Given the description of an element on the screen output the (x, y) to click on. 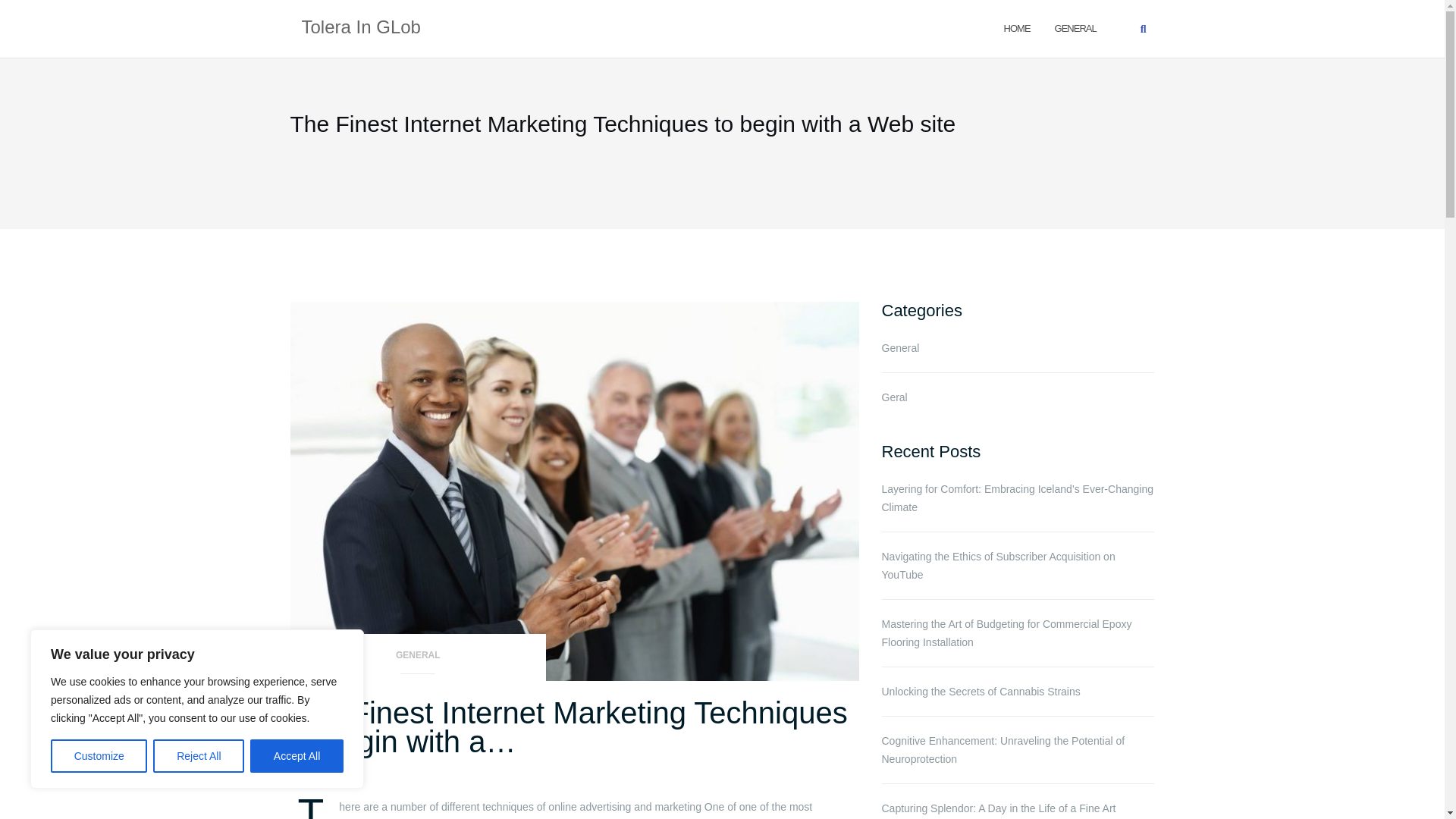
General (1075, 28)
Accept All (296, 756)
GENERAL (417, 660)
GENERAL (1075, 28)
Customize (98, 756)
Reject All (198, 756)
Tolera In GLob (360, 28)
